Given the description of an element on the screen output the (x, y) to click on. 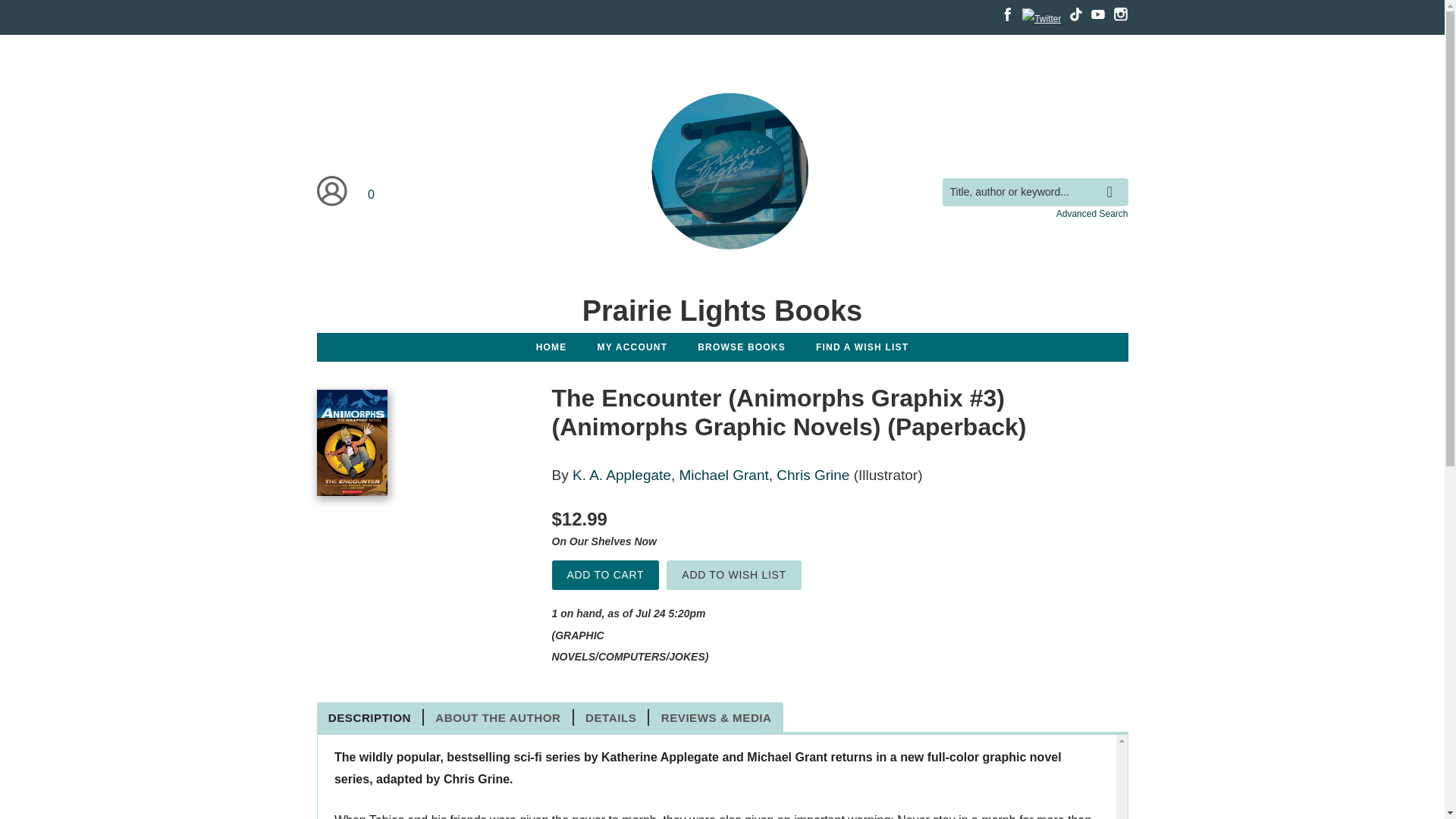
BROWSE BOOKS (741, 346)
DESCRIPTION (371, 717)
Prairie Lights Books (721, 310)
HOME (551, 346)
Michael Grant (723, 474)
MY ACCOUNT (632, 346)
Home (721, 173)
Home (721, 310)
Add to Cart (605, 574)
ABOUT THE AUTHOR (498, 717)
Title, author or keyword... (1034, 192)
Chris Grine (812, 474)
search (1112, 180)
ADD TO WISH LIST (733, 574)
